Given the description of an element on the screen output the (x, y) to click on. 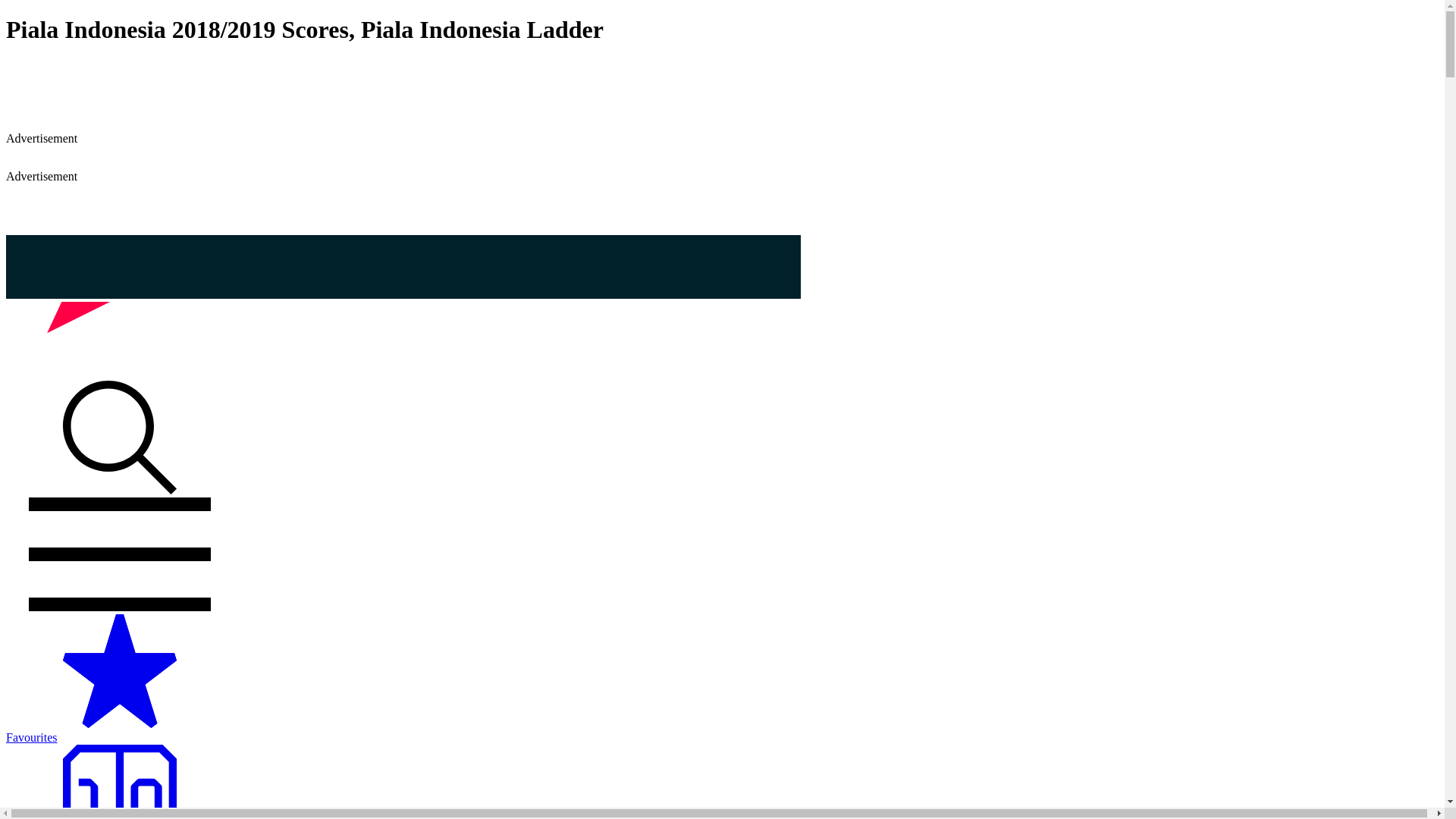
Favourites Element type: text (722, 730)
